Given the description of an element on the screen output the (x, y) to click on. 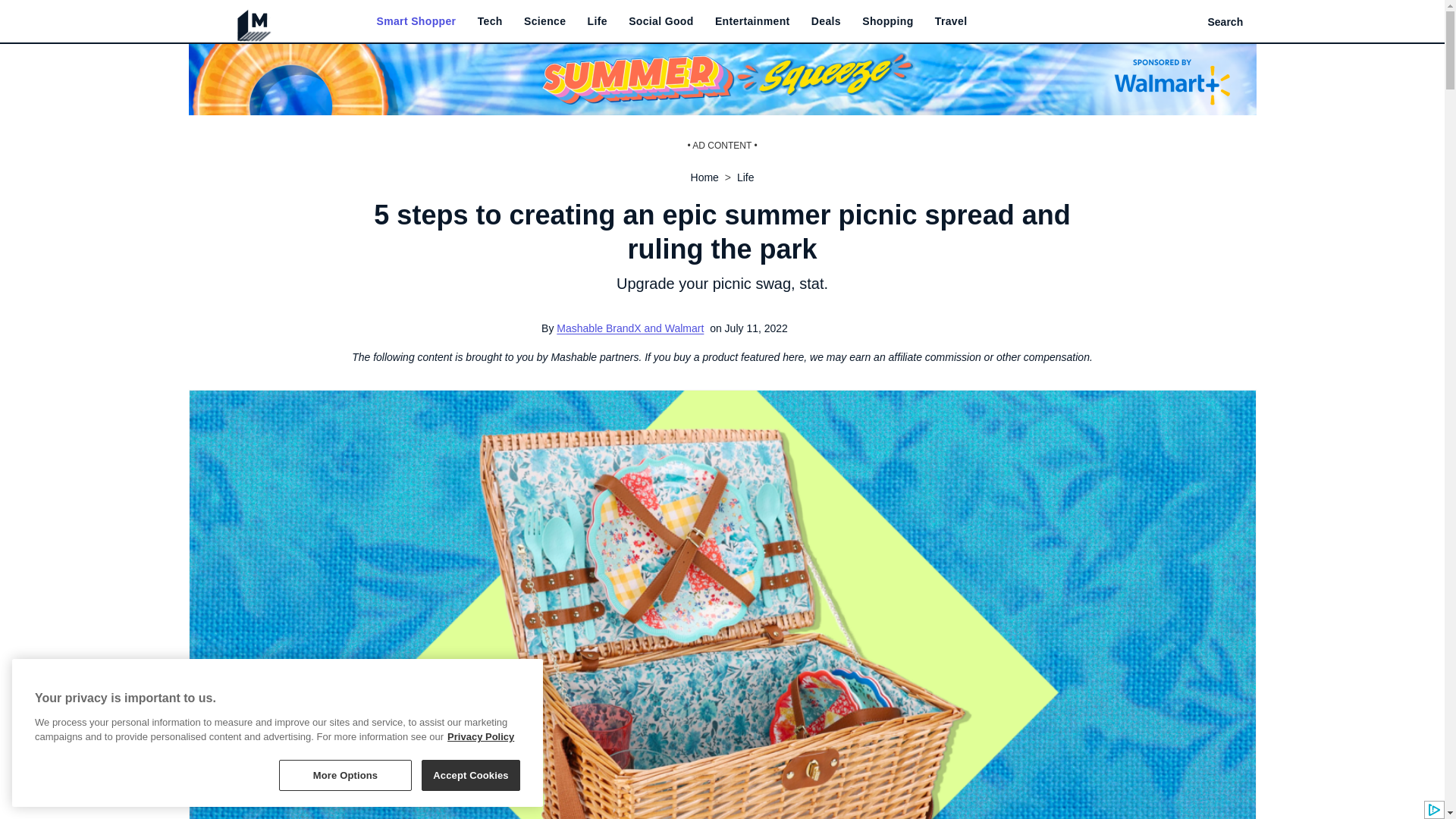
Smart Shopper (415, 21)
Social Good (661, 21)
Shopping (886, 21)
Tech (489, 21)
Travel (951, 21)
Deals (825, 21)
Life (597, 21)
Entertainment (752, 21)
Science (545, 21)
